Given the description of an element on the screen output the (x, y) to click on. 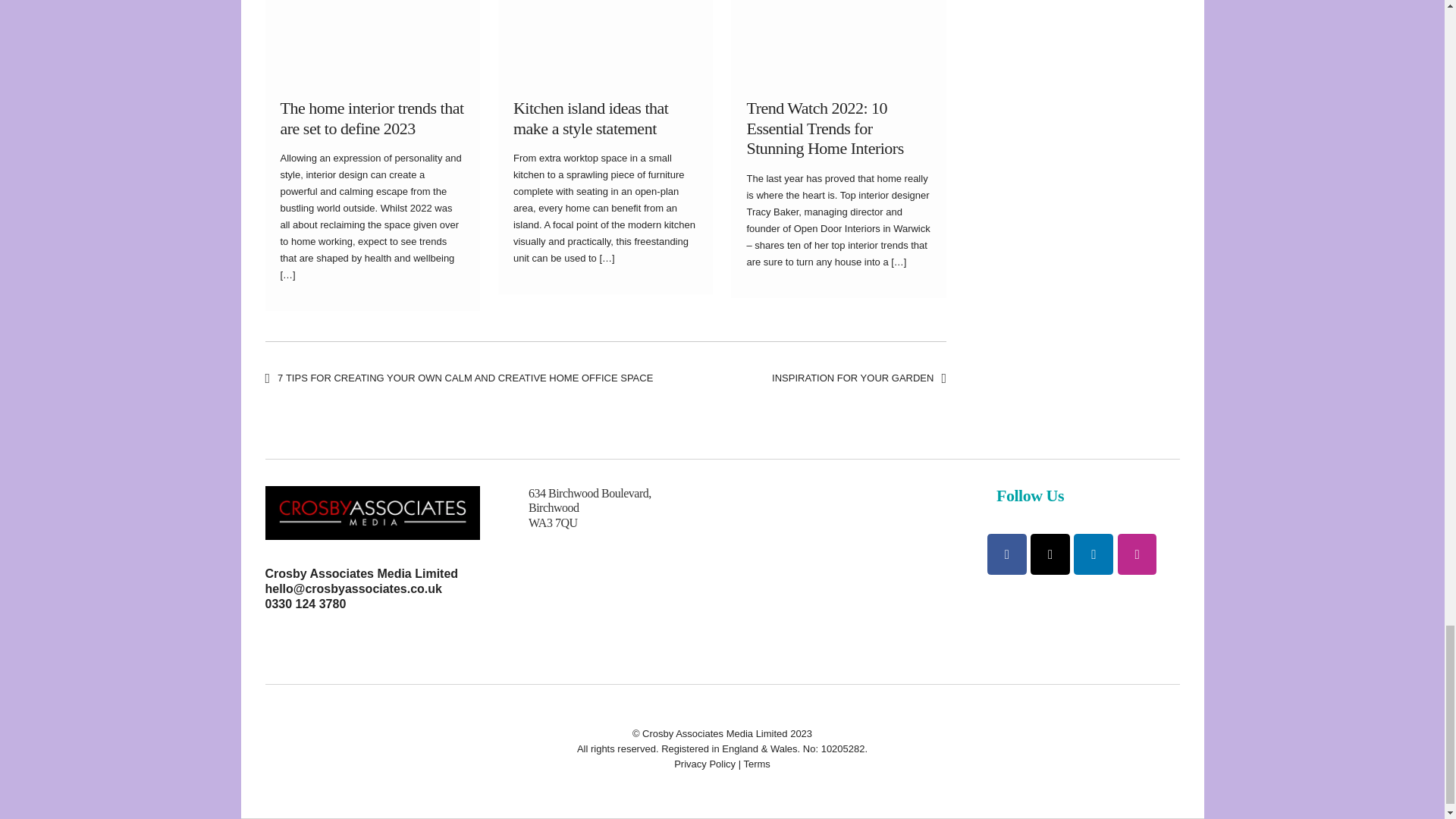
The home interior trends that are set to define 2023 (372, 117)
Kitchen island ideas that make a style statement (590, 117)
 on X Twitter (1050, 553)
INSPIRATION FOR YOUR GARDEN (858, 377)
Crosby Associates Media Limited  (362, 573)
The home interior trends that are set to define 2023 (372, 117)
Privacy Policy (704, 763)
Kitchen island ideas that make a style statement (590, 117)
 on Instagram (1137, 553)
 on Facebook (1006, 553)
0330 124 3780 (305, 603)
 on Linkedin (1093, 553)
Terms (756, 763)
